Given the description of an element on the screen output the (x, y) to click on. 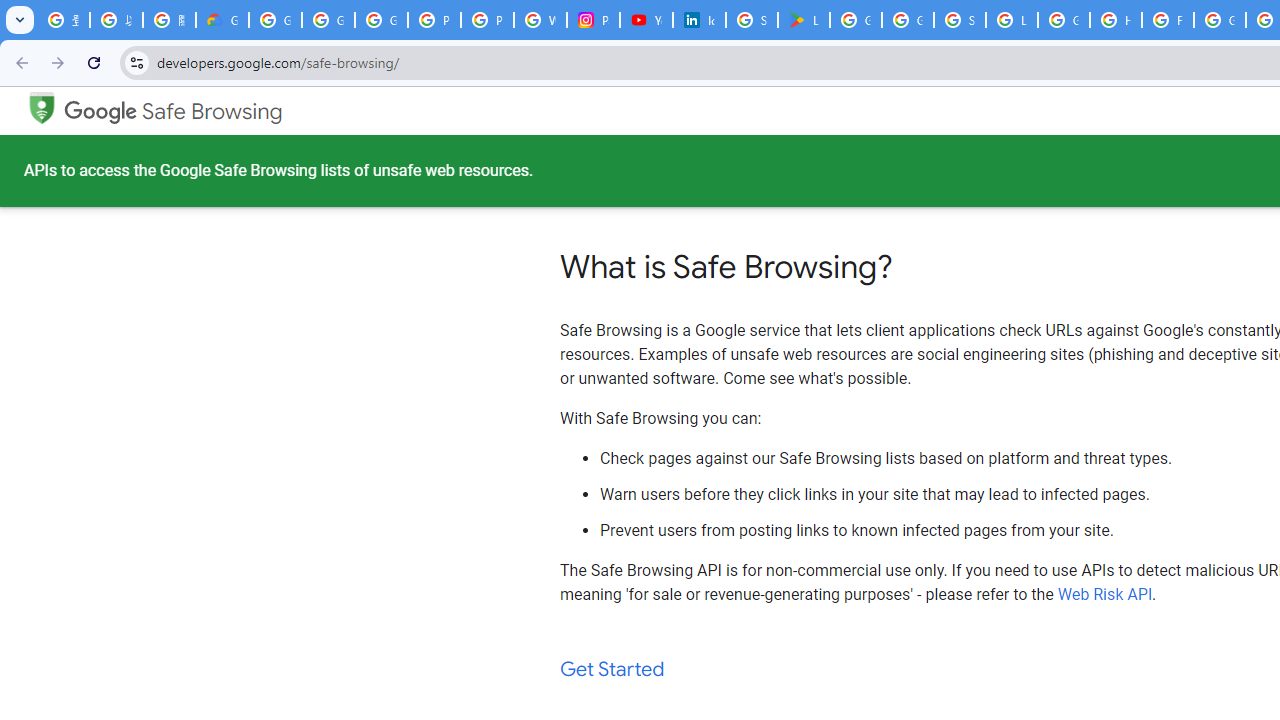
Last Shelter: Survival - Apps on Google Play (803, 20)
How do I create a new Google Account? - Google Account Help (1115, 20)
Get Started (612, 669)
